Given the description of an element on the screen output the (x, y) to click on. 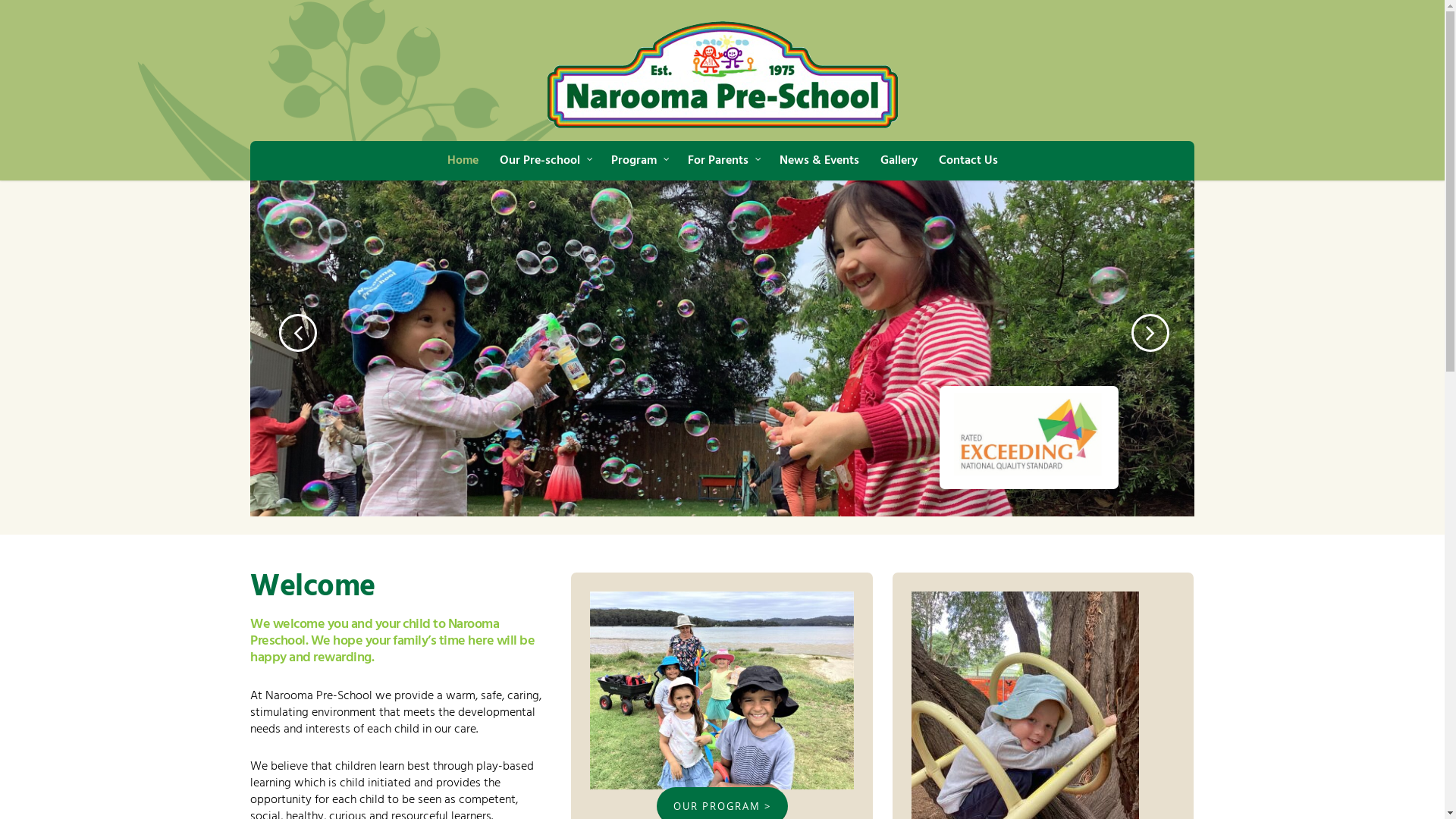
Contact Us Element type: text (967, 160)
Home Element type: text (461, 160)
Gallery Element type: text (898, 160)
For Parents Element type: text (722, 160)
Our Pre-school Element type: text (544, 160)
News & Events Element type: text (818, 160)
Program Element type: text (637, 160)
